Given the description of an element on the screen output the (x, y) to click on. 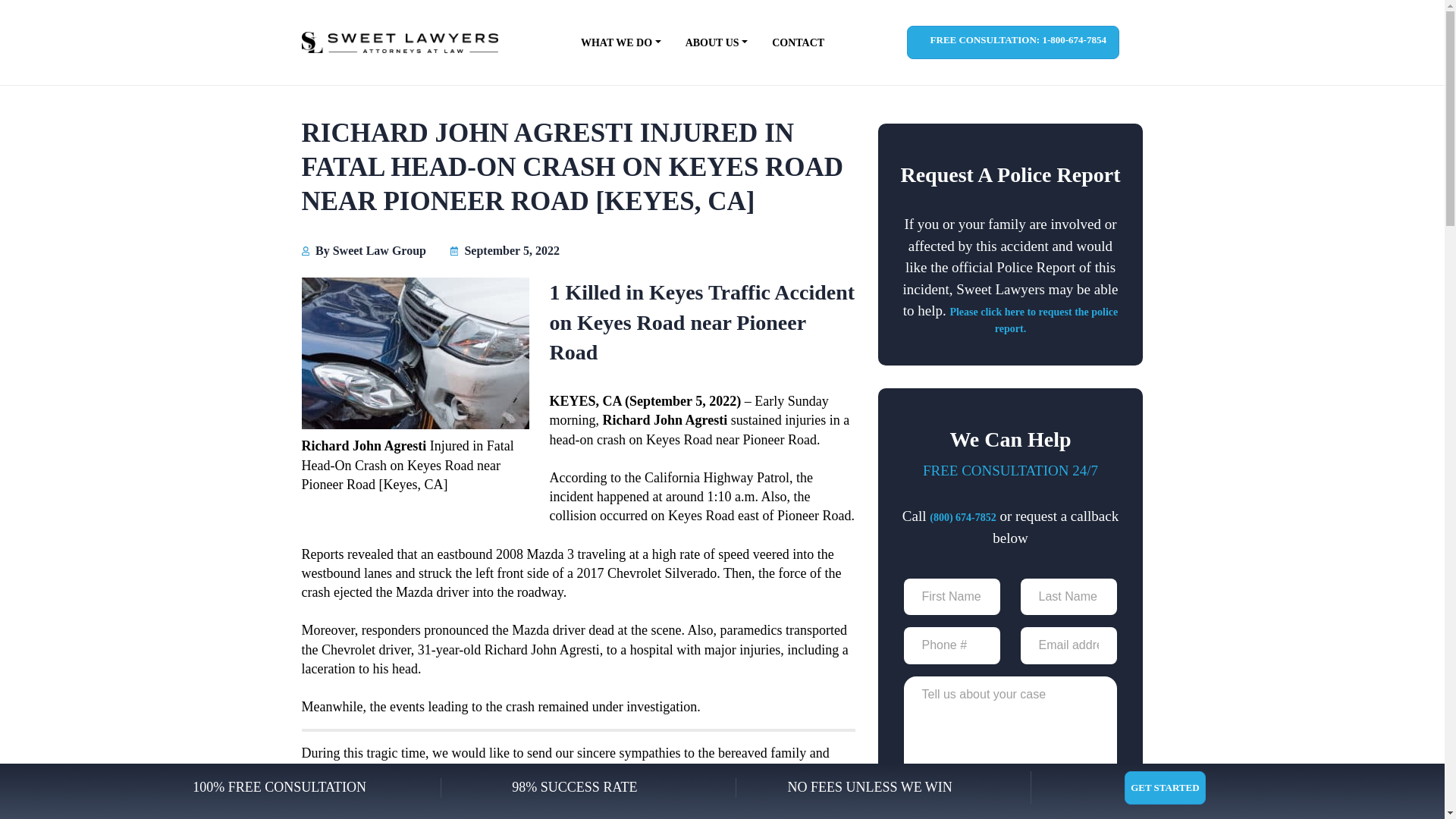
Please click here to request the police report. (1033, 320)
Sweet Law Group (379, 250)
FREE CONSULTATION: 1-800-674-7854 (1013, 41)
Get Your Answer (1010, 814)
WHAT WE DO (620, 42)
Contact (797, 42)
CONTACT (797, 42)
Get Your Answer (1010, 814)
ABOUT US (716, 42)
What We Do (620, 42)
About Us (716, 42)
